Given the description of an element on the screen output the (x, y) to click on. 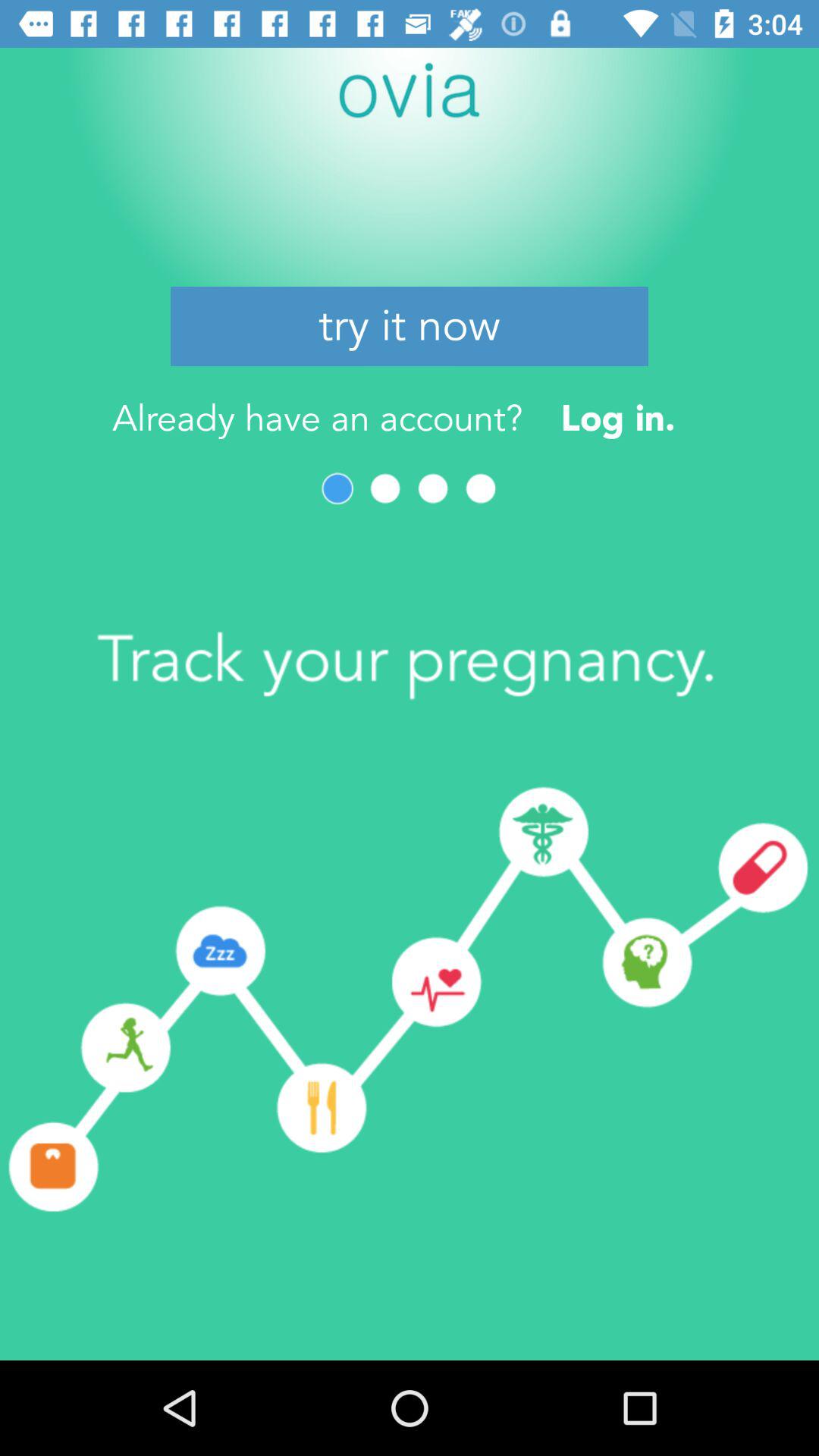
scroll until log in. icon (617, 417)
